Given the description of an element on the screen output the (x, y) to click on. 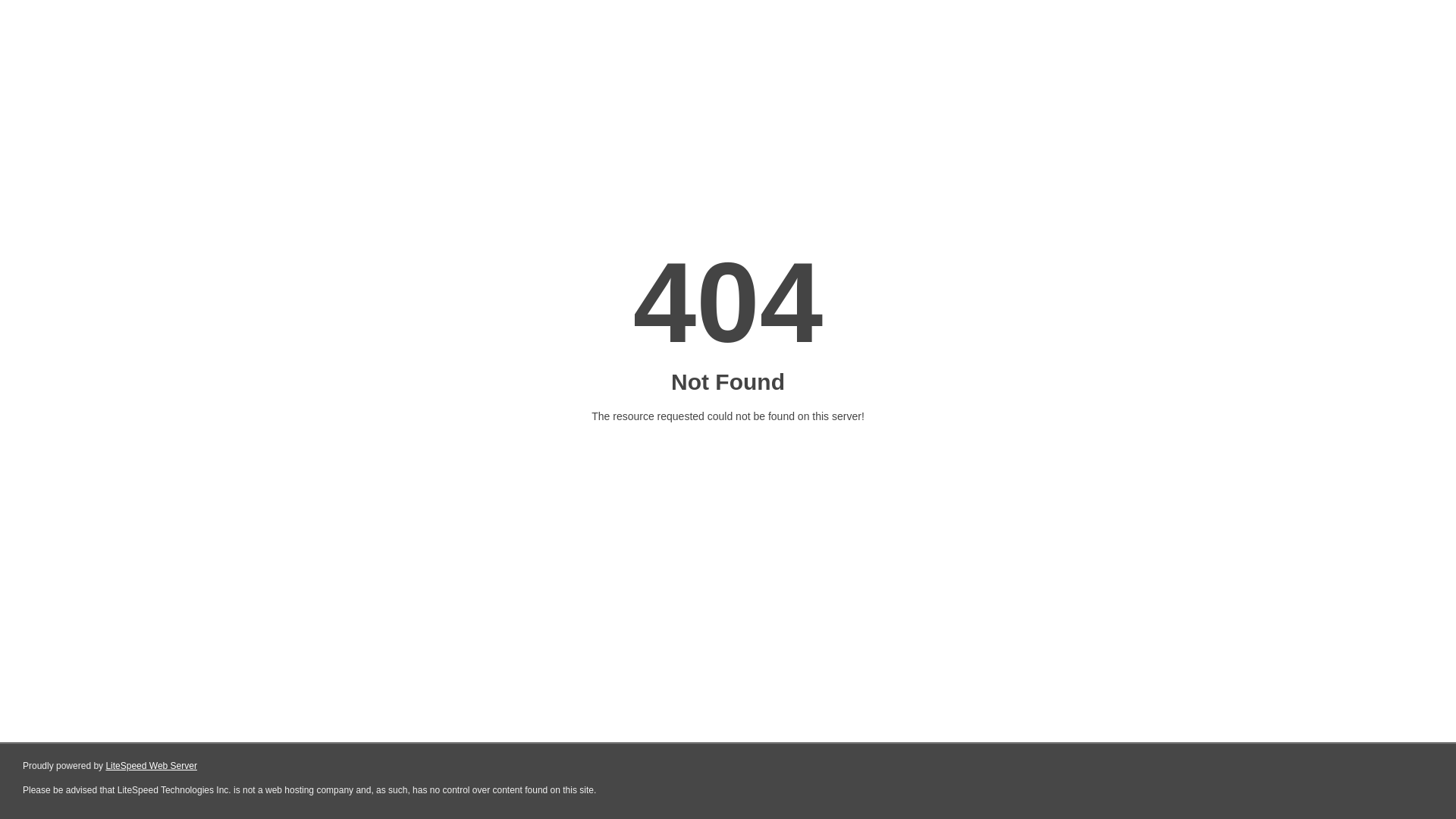
LiteSpeed Web Server Element type: text (151, 765)
